Given the description of an element on the screen output the (x, y) to click on. 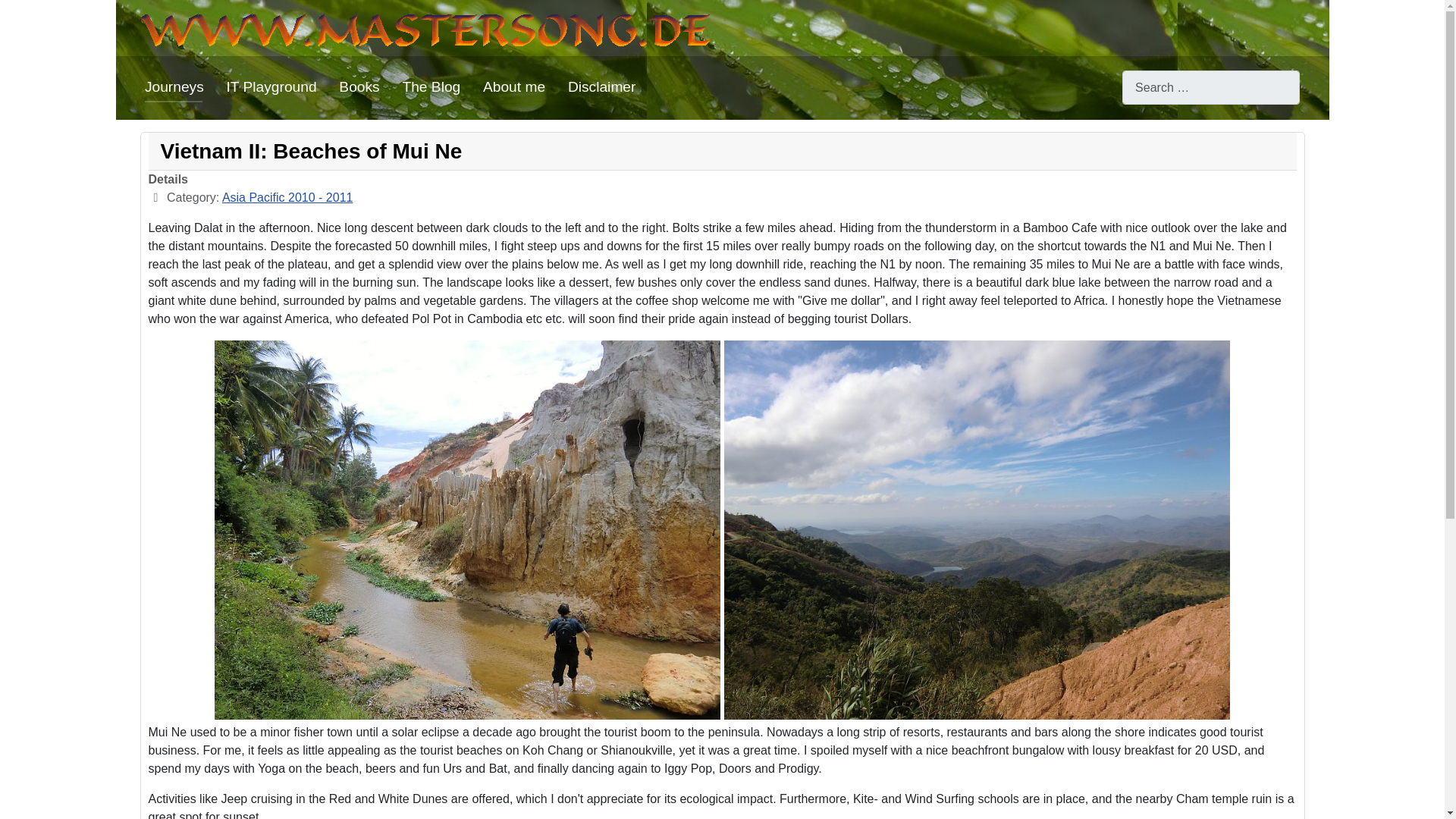
Asia Pacific 2010 - 2011 (287, 196)
Books (358, 86)
About me (513, 86)
The Blog (430, 86)
Journeys (173, 86)
IT Playground (270, 86)
Disclaimer (601, 86)
